Given the description of an element on the screen output the (x, y) to click on. 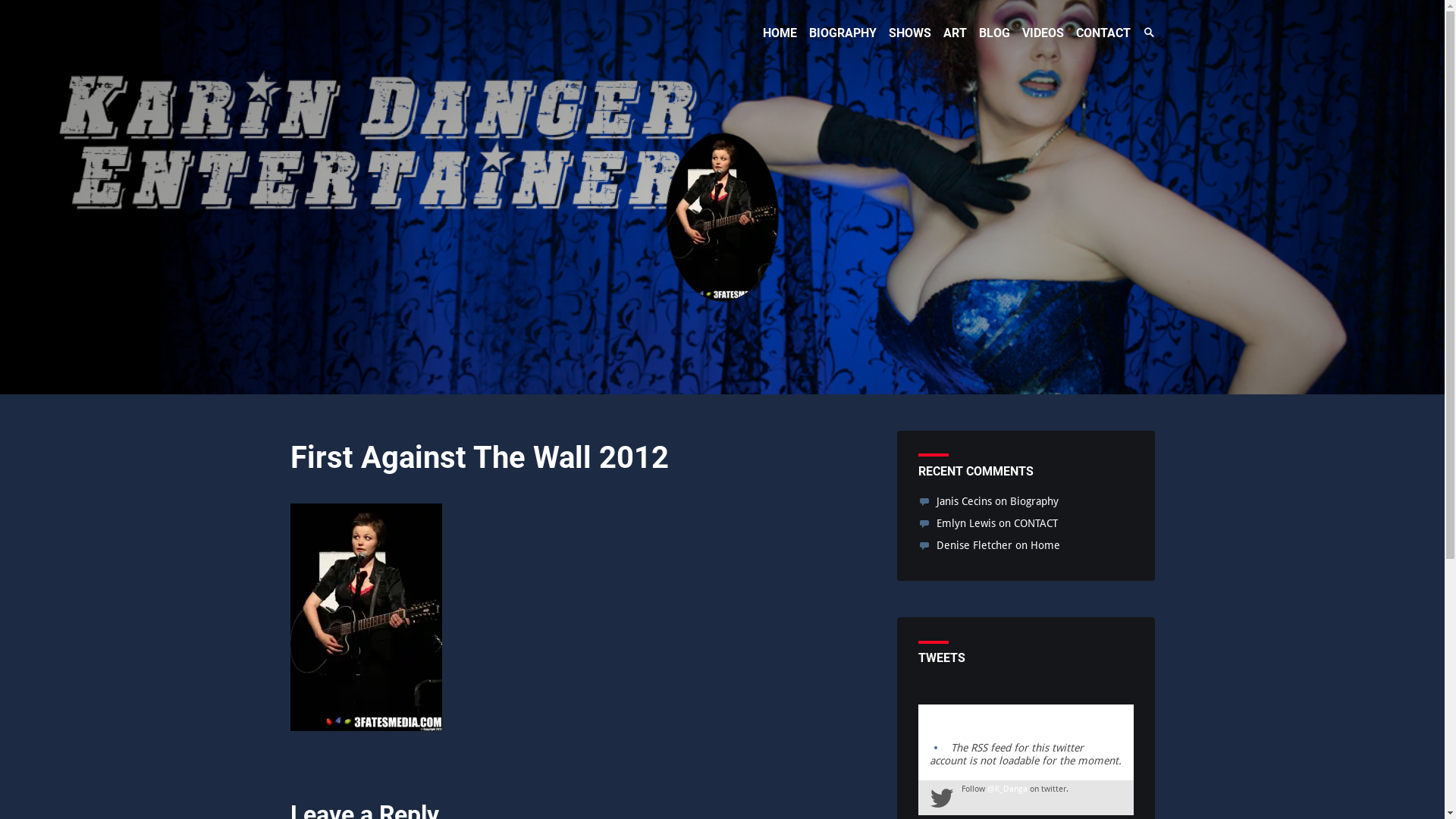
VIDEOS Element type: text (1042, 32)
Biography Element type: text (1034, 501)
HOME Element type: text (779, 32)
SHOWS Element type: text (909, 32)
Home Element type: text (1044, 545)
@K_Danga Element type: text (1007, 788)
Enter the Danger Zone Element type: text (411, 29)
Search Toggle Element type: text (1148, 32)
CONTACT Element type: text (1035, 523)
BLOG Element type: text (993, 32)
BIOGRAPHY Element type: text (841, 32)
CONTACT Element type: text (1102, 32)
ART Element type: text (954, 32)
